Given the description of an element on the screen output the (x, y) to click on. 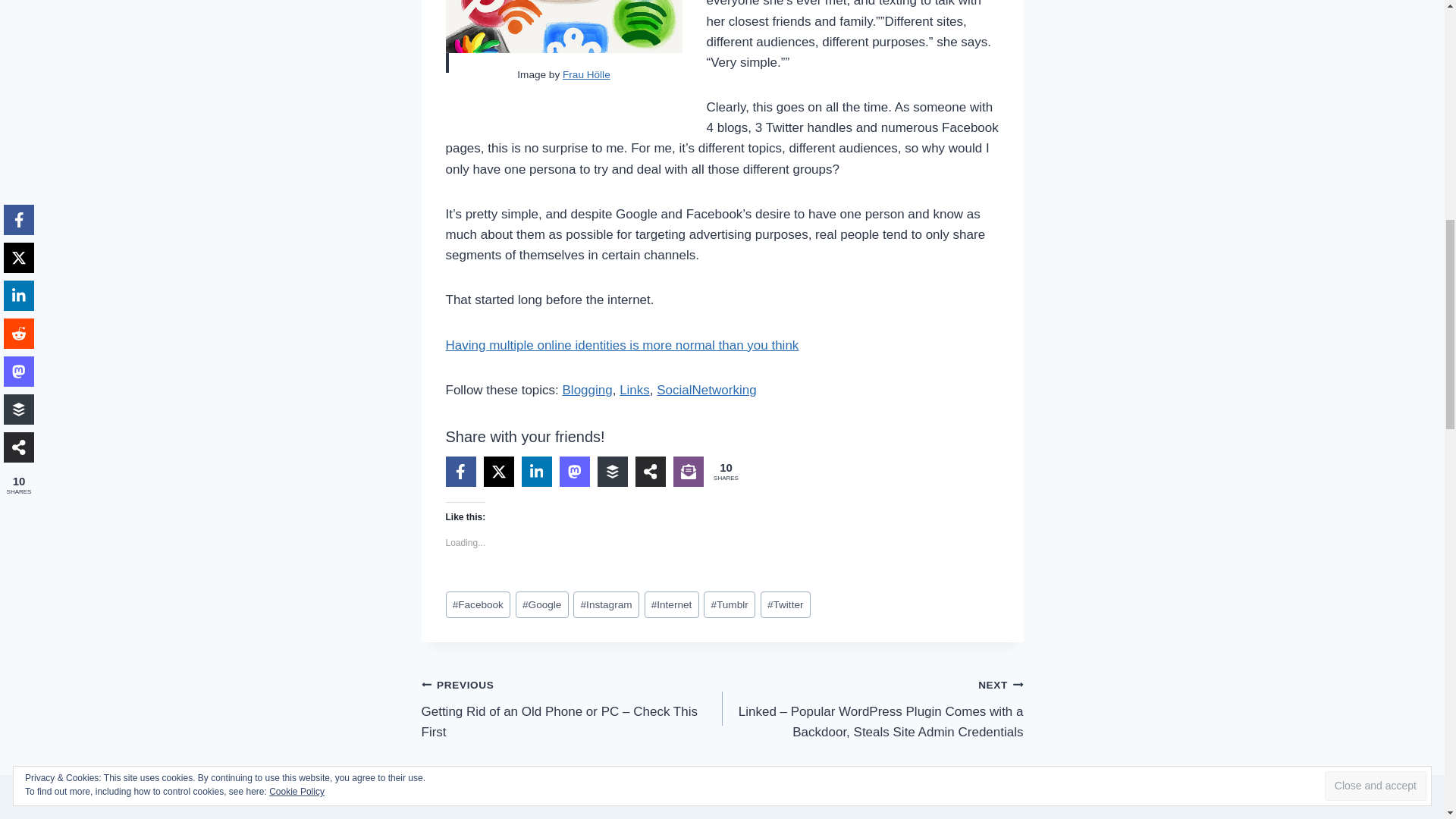
Google (542, 604)
Instagram (606, 604)
Internet (671, 604)
Tumblr (729, 604)
SocialNetworking (705, 390)
Facebook (478, 604)
Links (634, 390)
Blogging (587, 390)
Twitter (785, 604)
